Given the description of an element on the screen output the (x, y) to click on. 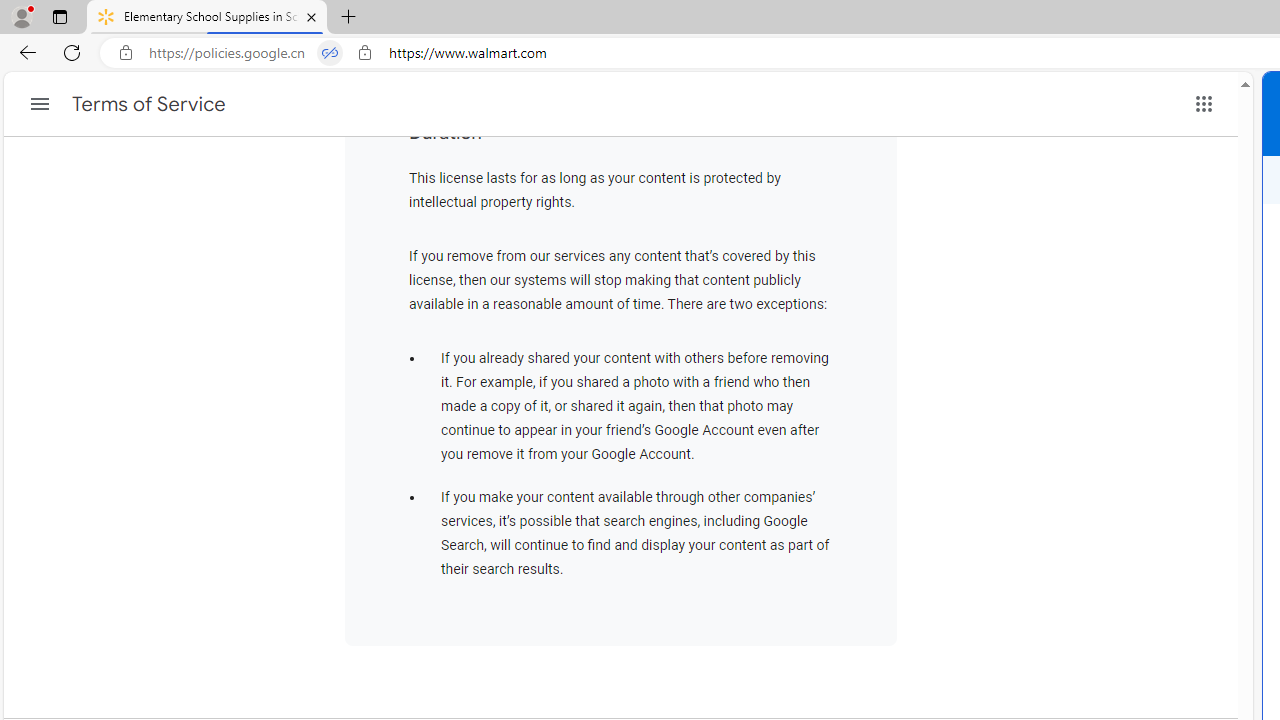
New Tab (349, 17)
Tabs in split screen (330, 53)
Close tab (311, 16)
View site information (365, 53)
Tab actions menu (59, 16)
Refresh (72, 52)
Back (24, 52)
